Given the description of an element on the screen output the (x, y) to click on. 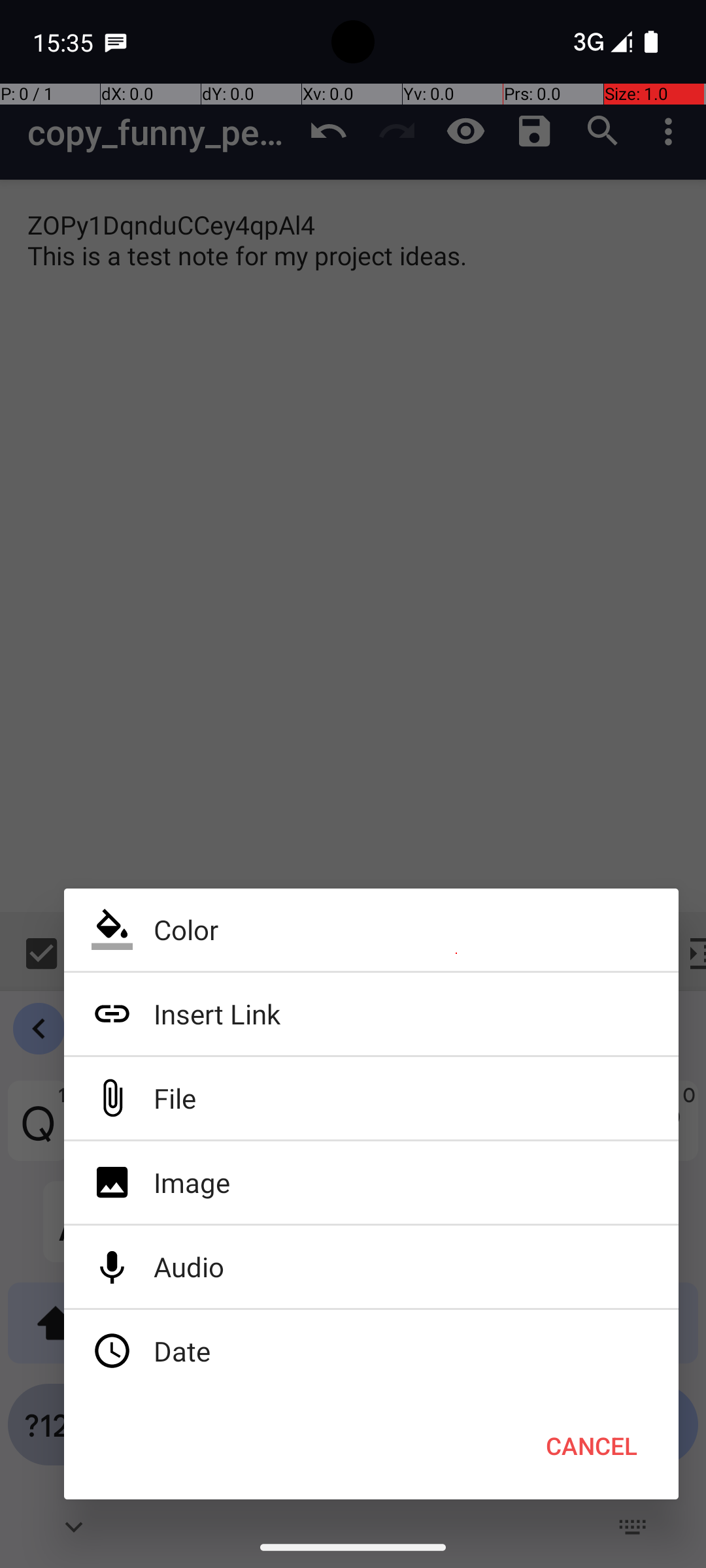
Color Element type: android.widget.TextView (371, 929)
Insert Link Element type: android.widget.TextView (371, 1013)
File Element type: android.widget.TextView (371, 1098)
Image Element type: android.widget.TextView (371, 1182)
